Given the description of an element on the screen output the (x, y) to click on. 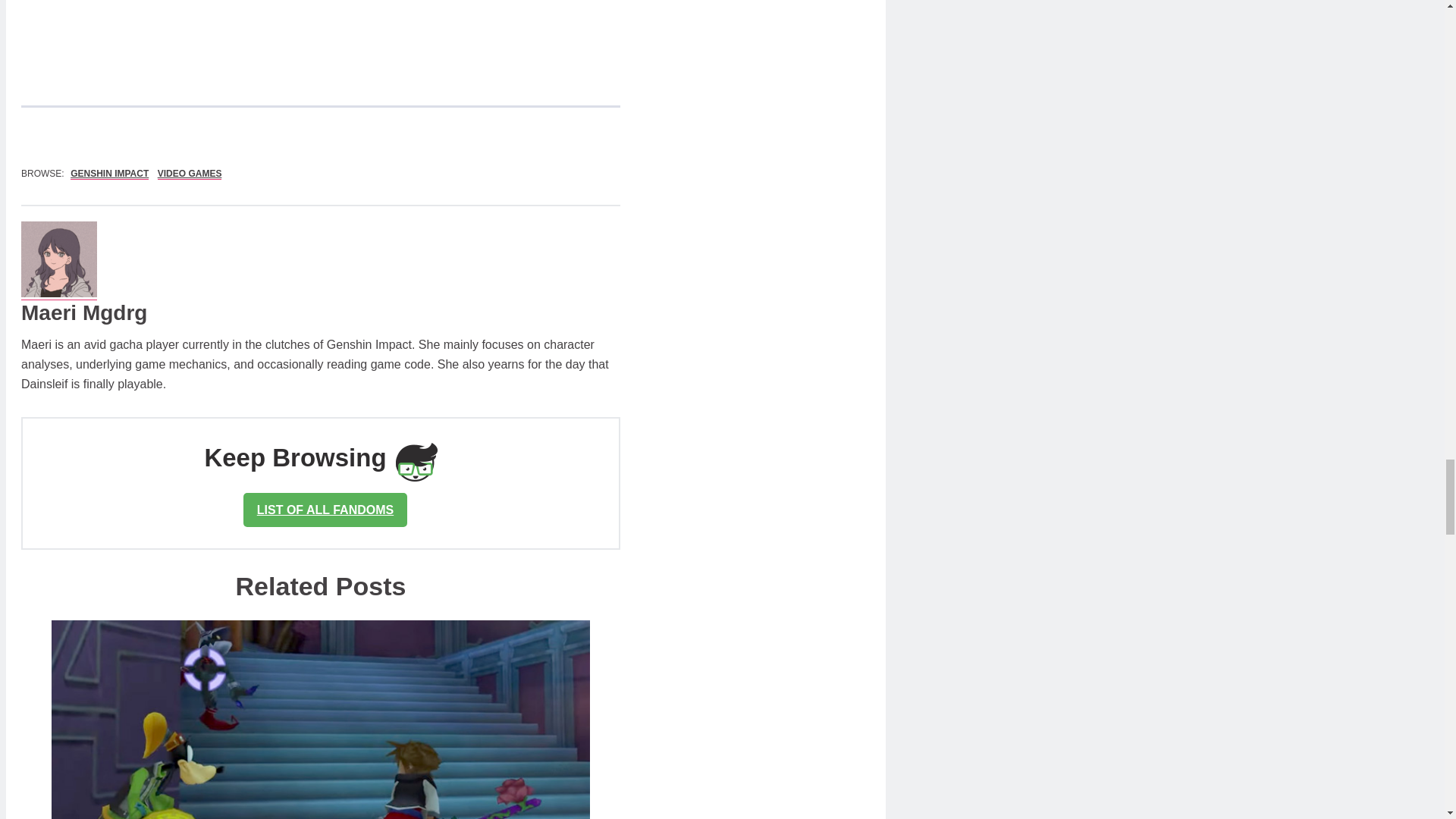
VIDEO GAMES (189, 173)
LIST OF ALL FANDOMS (325, 510)
GENSHIN IMPACT (108, 173)
